Given the description of an element on the screen output the (x, y) to click on. 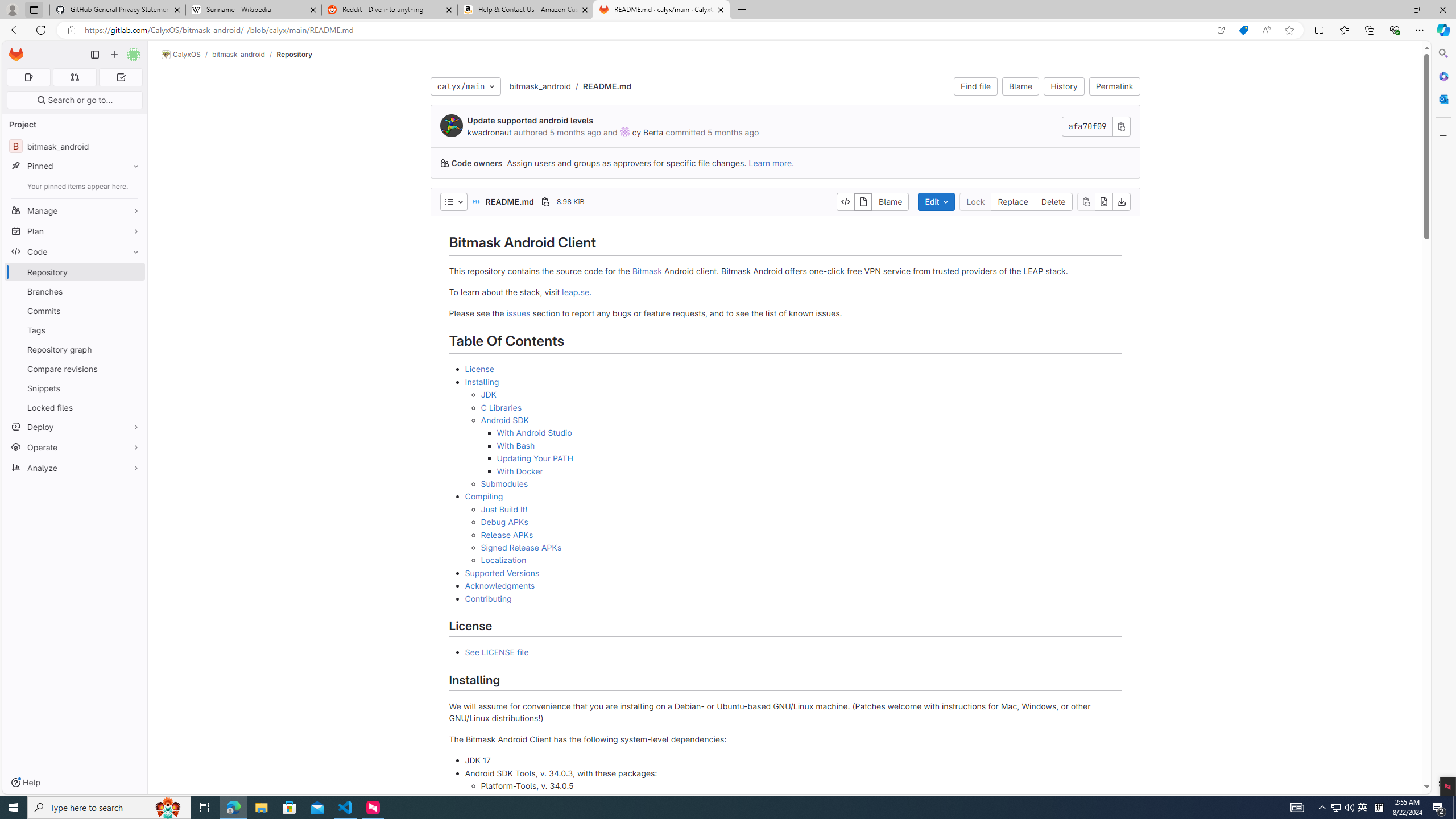
Open in app (1220, 29)
Debug APKs (504, 521)
CalyxOS/ (186, 54)
To-Do list 0 (120, 76)
Suriname - Wikipedia (253, 9)
Supported Versions (792, 572)
Update supported android levels (530, 120)
GitHub General Privacy Statement - GitHub Docs (117, 9)
calyx/main (464, 85)
kwadronaut (489, 131)
Display source (846, 201)
Permalink (1114, 85)
Localization (503, 560)
Installing (481, 381)
